Given the description of an element on the screen output the (x, y) to click on. 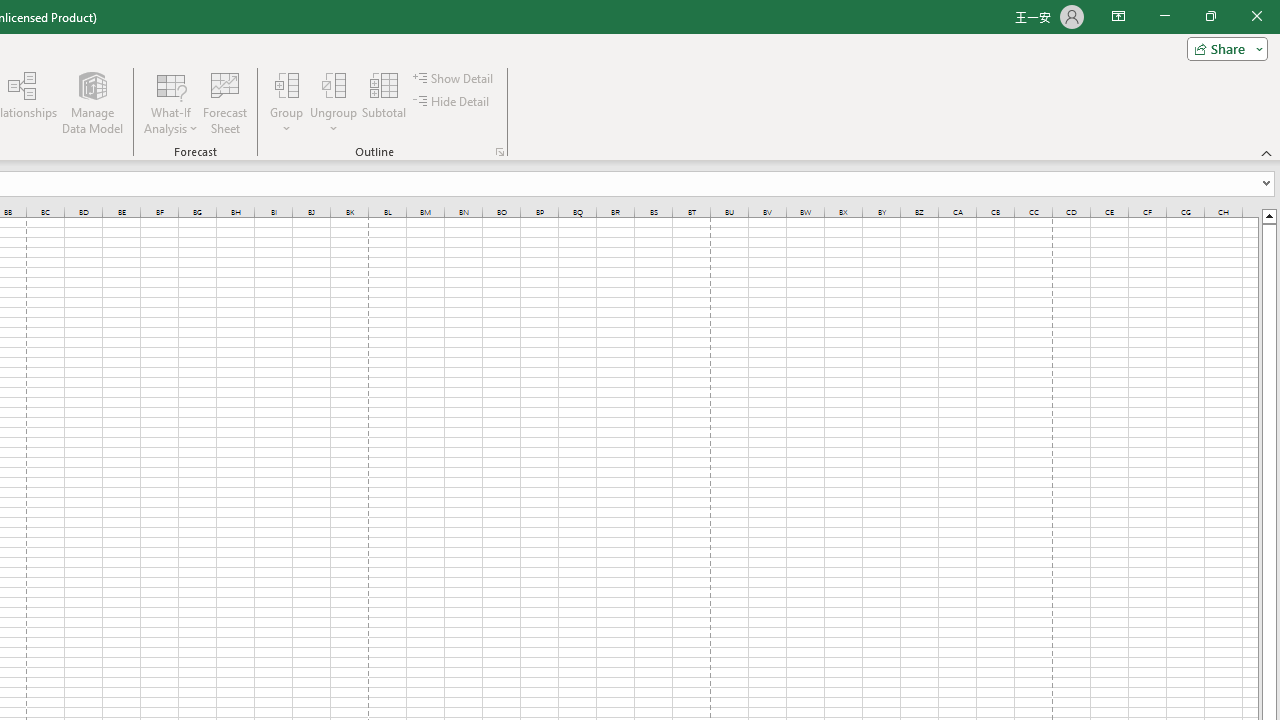
Group... (287, 84)
Manage Data Model (92, 102)
What-If Analysis (171, 102)
Hide Detail (452, 101)
Restore Down (1210, 16)
Ungroup... (333, 84)
Group and Outline Settings (499, 151)
Forecast Sheet (224, 102)
Group... (287, 102)
Ribbon Display Options (1118, 16)
Line up (1268, 215)
Ungroup... (333, 102)
